Given the description of an element on the screen output the (x, y) to click on. 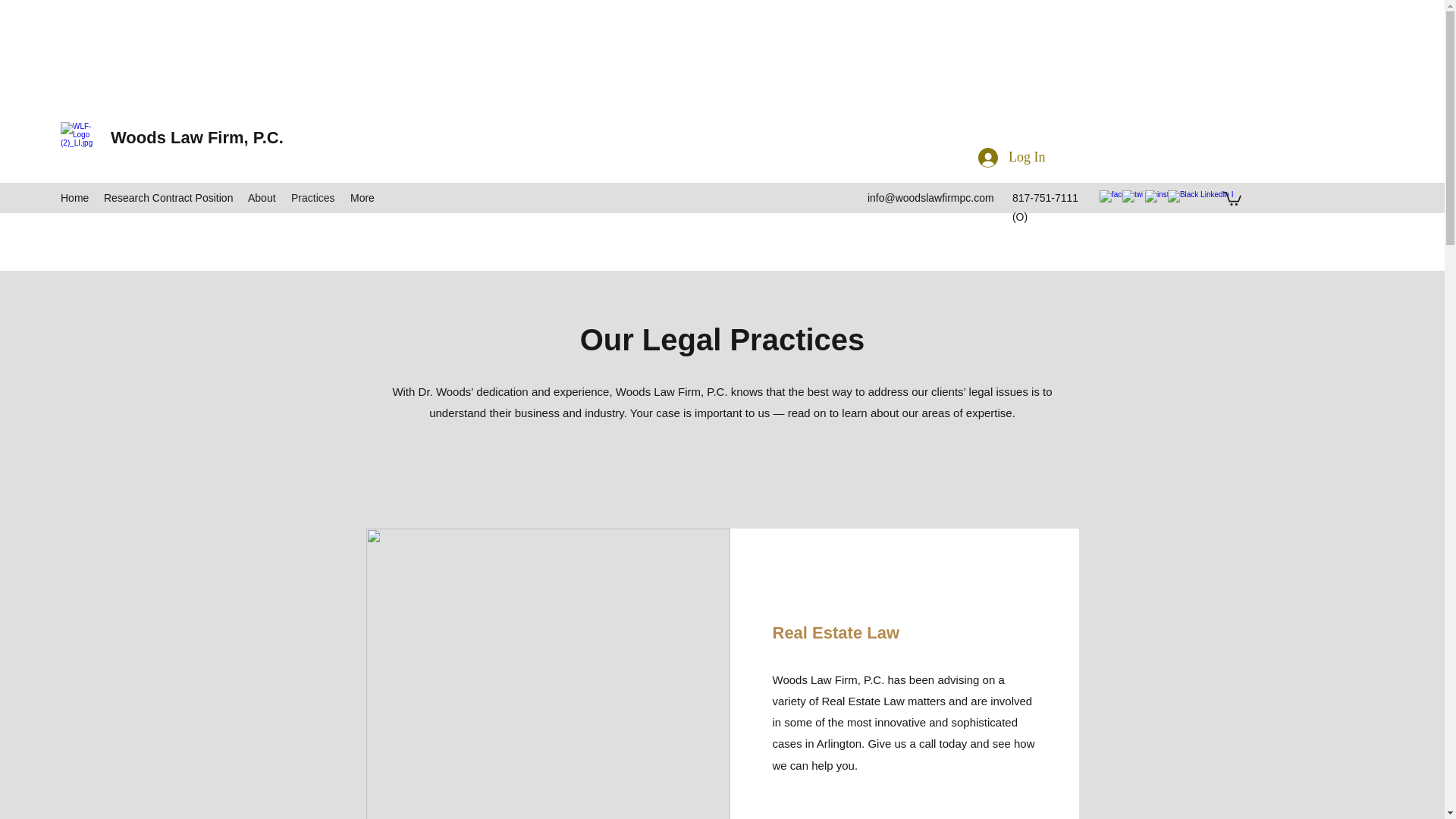
Log In (1012, 157)
Research Contract Position (168, 197)
About (261, 197)
Home (74, 197)
Practices (312, 197)
